Given the description of an element on the screen output the (x, y) to click on. 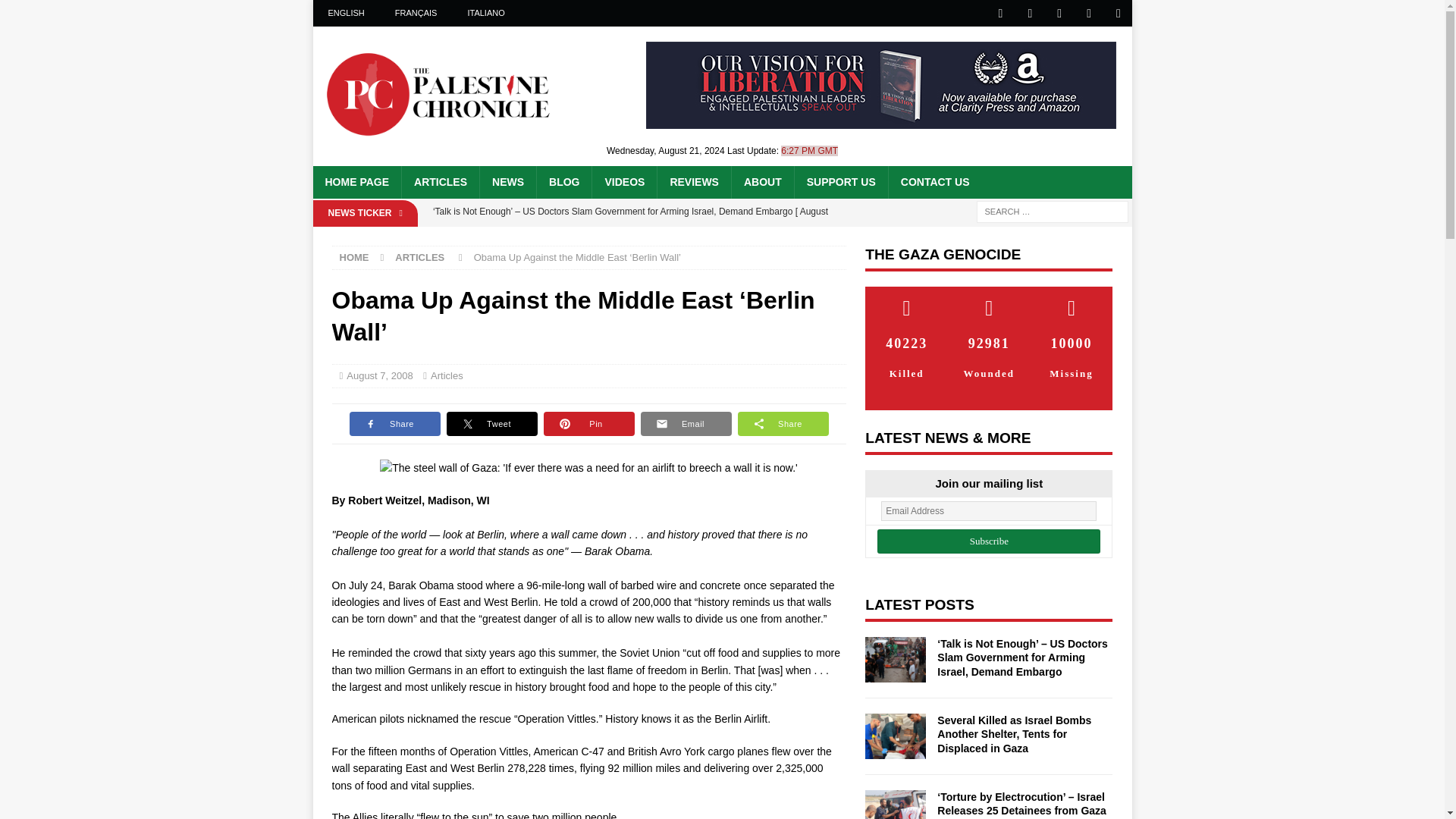
SUPPORT US (840, 182)
CONTACT US (934, 182)
REVIEWS (693, 182)
Search (56, 11)
ABOUT (761, 182)
HOME PAGE (357, 182)
ENGLISH (345, 13)
BLOG (563, 182)
VIDEOS (623, 182)
Subscribe (988, 541)
